Given the description of an element on the screen output the (x, y) to click on. 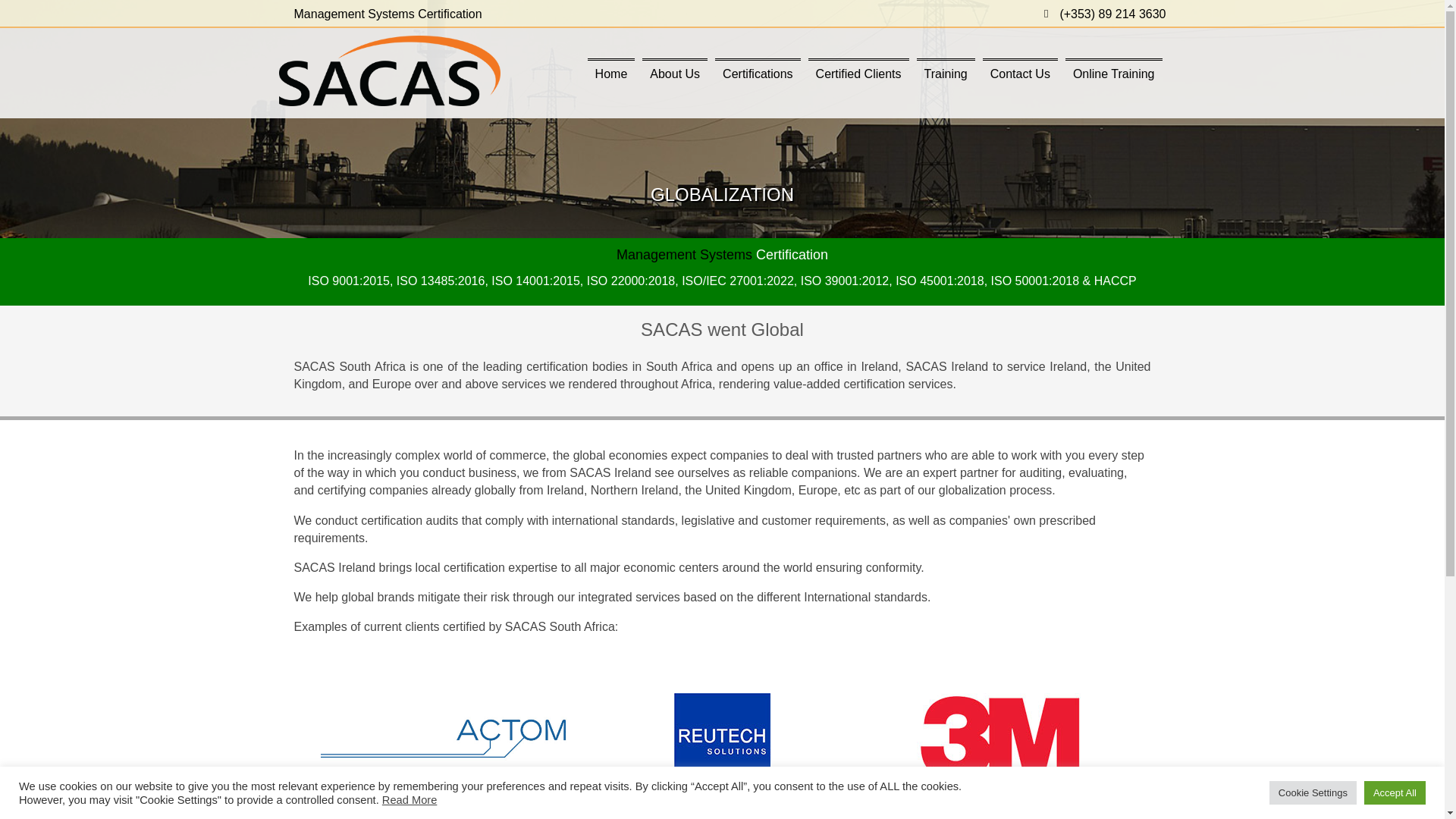
Contact Us (1020, 72)
Online Training (1113, 72)
Actom (443, 737)
About Us (674, 72)
Reutech (722, 737)
Certifications (756, 72)
3M (1000, 737)
Certified Clients (858, 72)
Training (946, 72)
Home (611, 72)
